Given the description of an element on the screen output the (x, y) to click on. 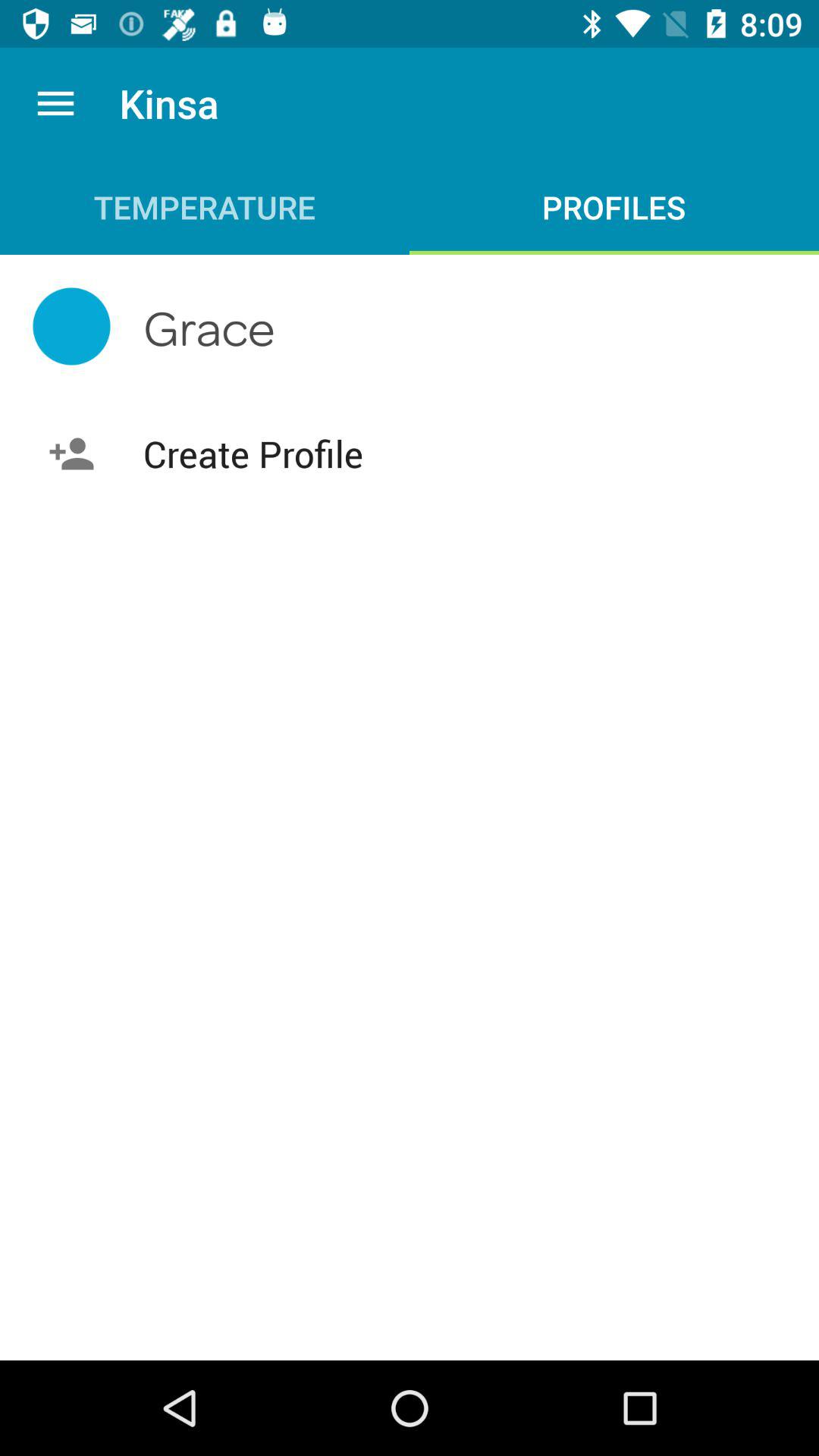
open item next to the kinsa app (55, 103)
